Given the description of an element on the screen output the (x, y) to click on. 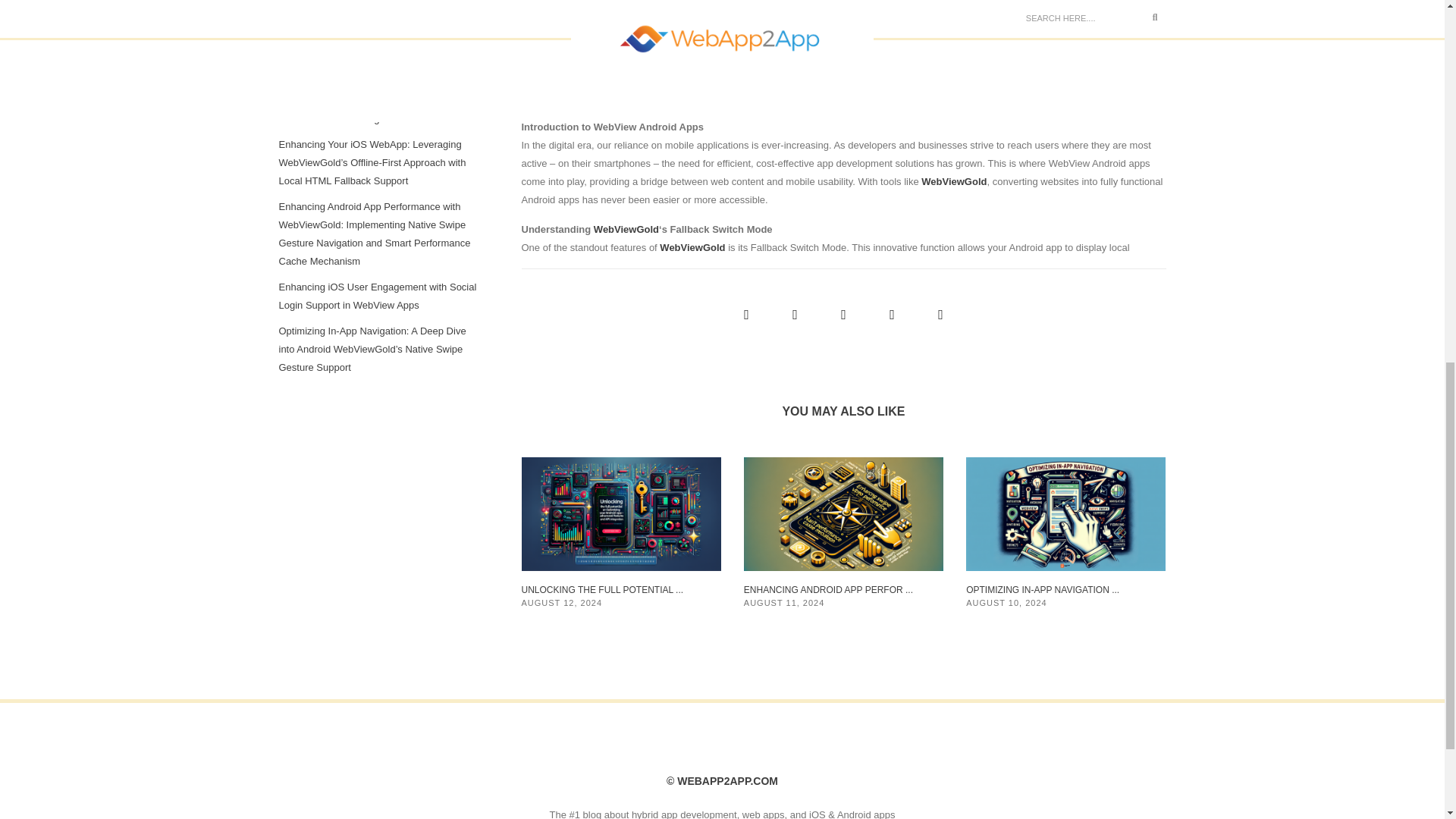
WebViewGold (626, 229)
OPTIMIZING IN-APP NAVIGATION ... (1042, 589)
WebViewGold (954, 181)
WebViewGold (692, 247)
UNLOCKING THE FULL POTENTIAL ... (602, 589)
ENHANCING ANDROID APP PERFOR ... (828, 589)
